Given the description of an element on the screen output the (x, y) to click on. 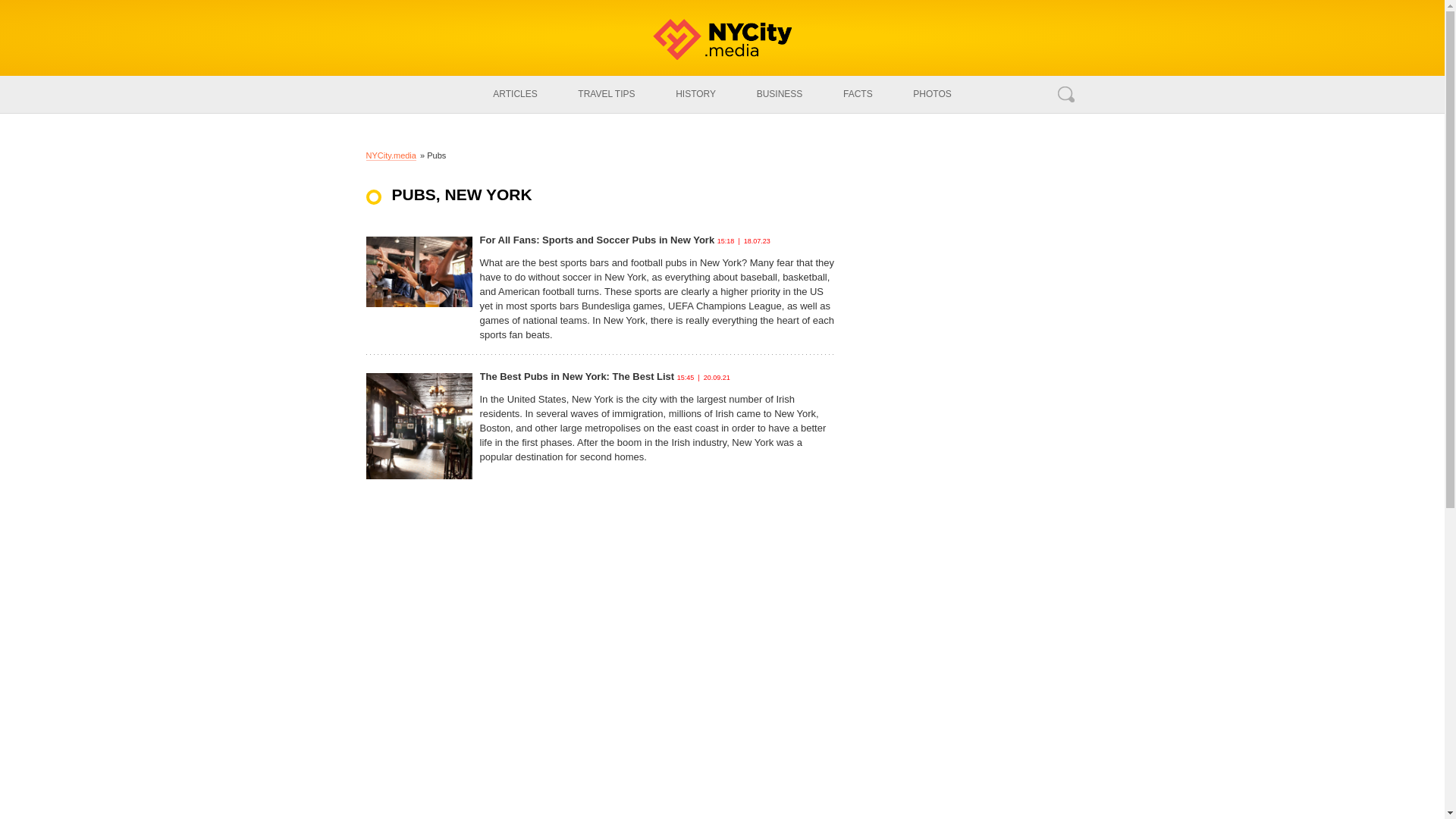
NYCity.media (389, 155)
FACTS (857, 94)
ARTICLES (515, 94)
TRAVEL TIPS (606, 94)
For All Fans: Sports and Soccer Pubs in New York (596, 240)
HISTORY (695, 94)
PHOTOS (931, 94)
BUSINESS (780, 94)
The Best Pubs in New York: The Best List (576, 377)
